Given the description of an element on the screen output the (x, y) to click on. 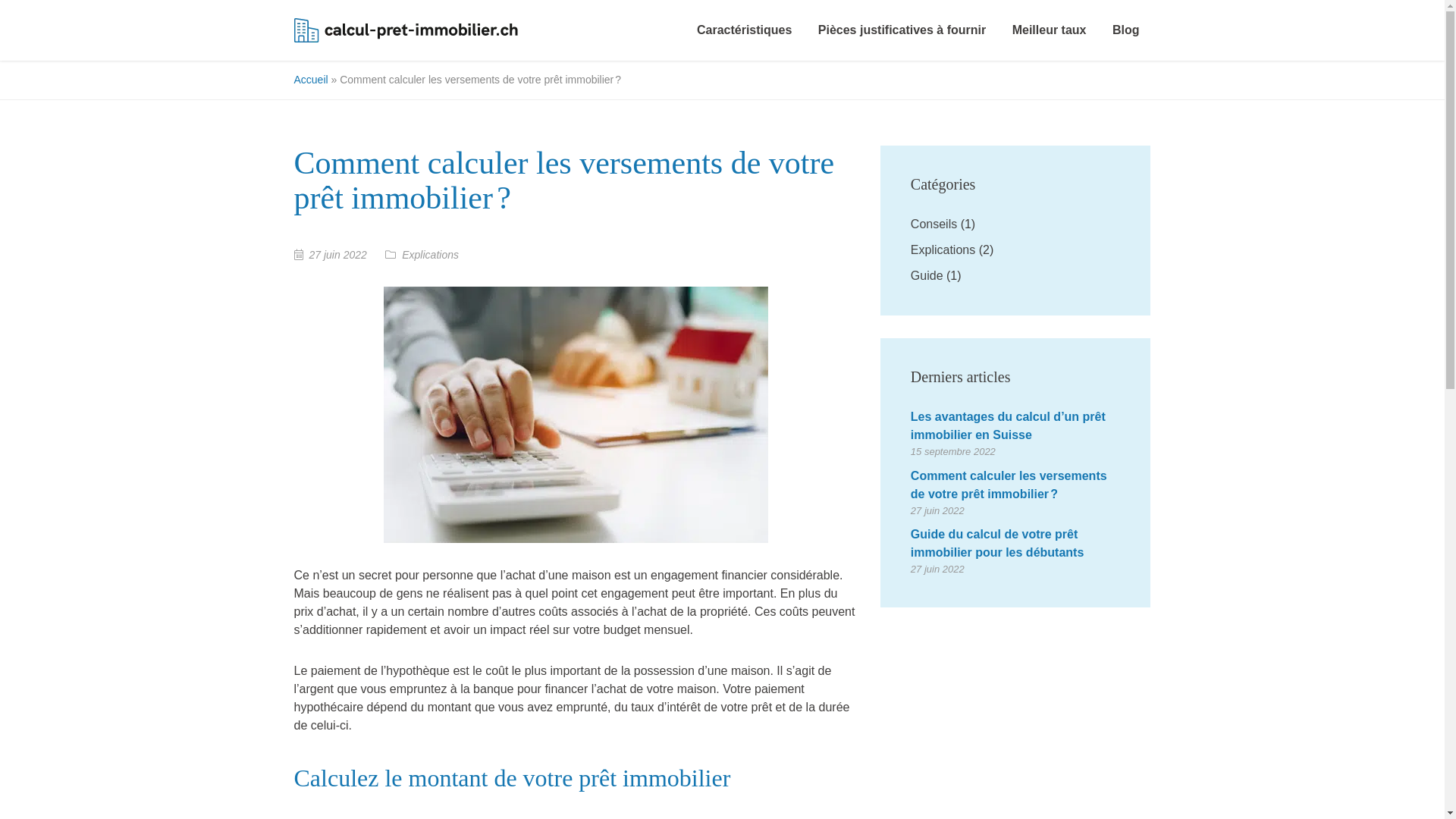
Blog Element type: text (1125, 30)
Conseils Element type: text (933, 223)
Explications Element type: text (429, 254)
Explications Element type: text (942, 249)
Guide Element type: text (926, 275)
Meilleur taux Element type: text (1049, 30)
Accueil Element type: text (311, 79)
